Given the description of an element on the screen output the (x, y) to click on. 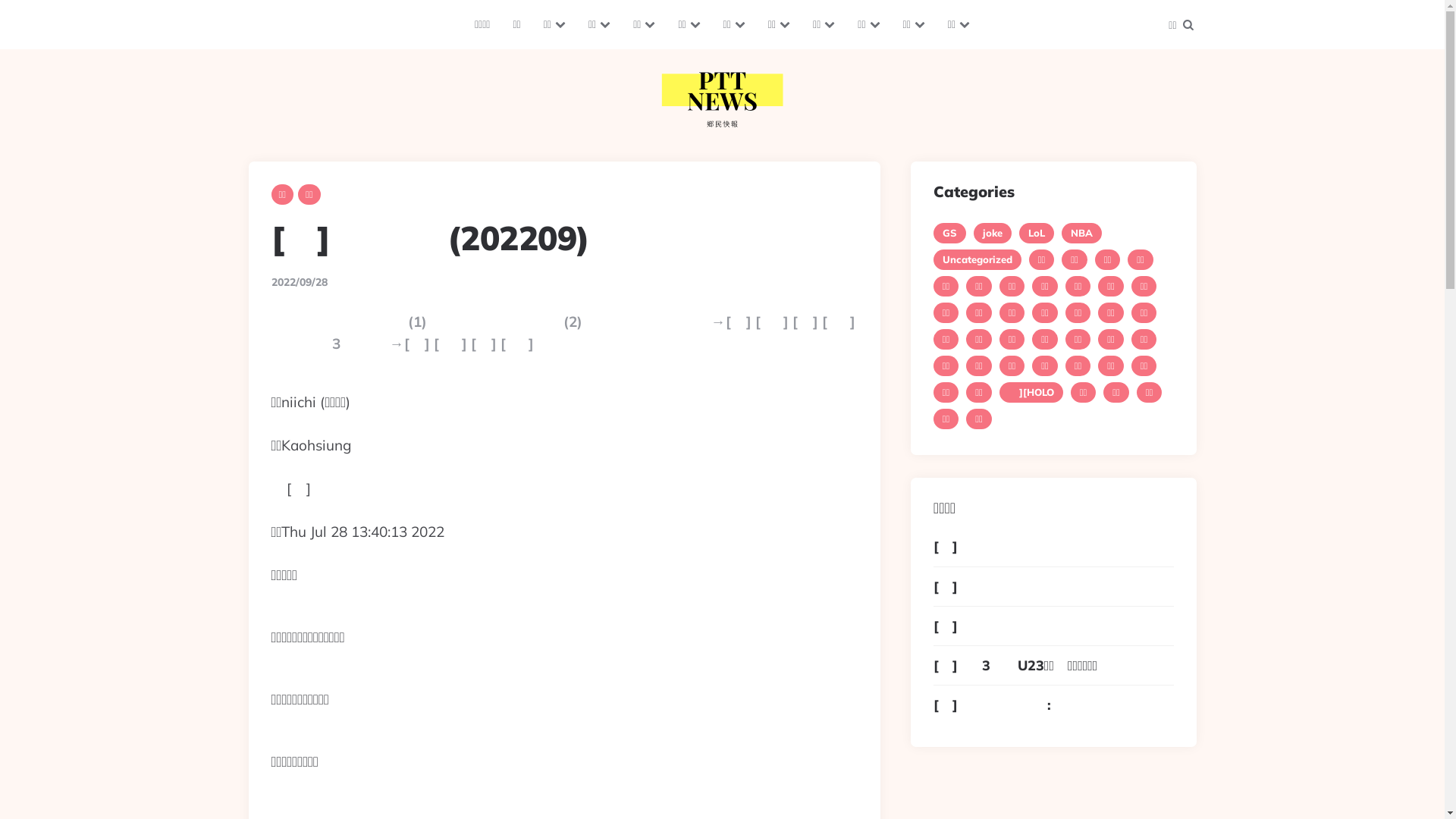
Uncategorized Element type: text (977, 259)
joke Element type: text (992, 232)
LoL Element type: text (1036, 232)
GS Element type: text (949, 232)
NBA Element type: text (1081, 232)
